Given the description of an element on the screen output the (x, y) to click on. 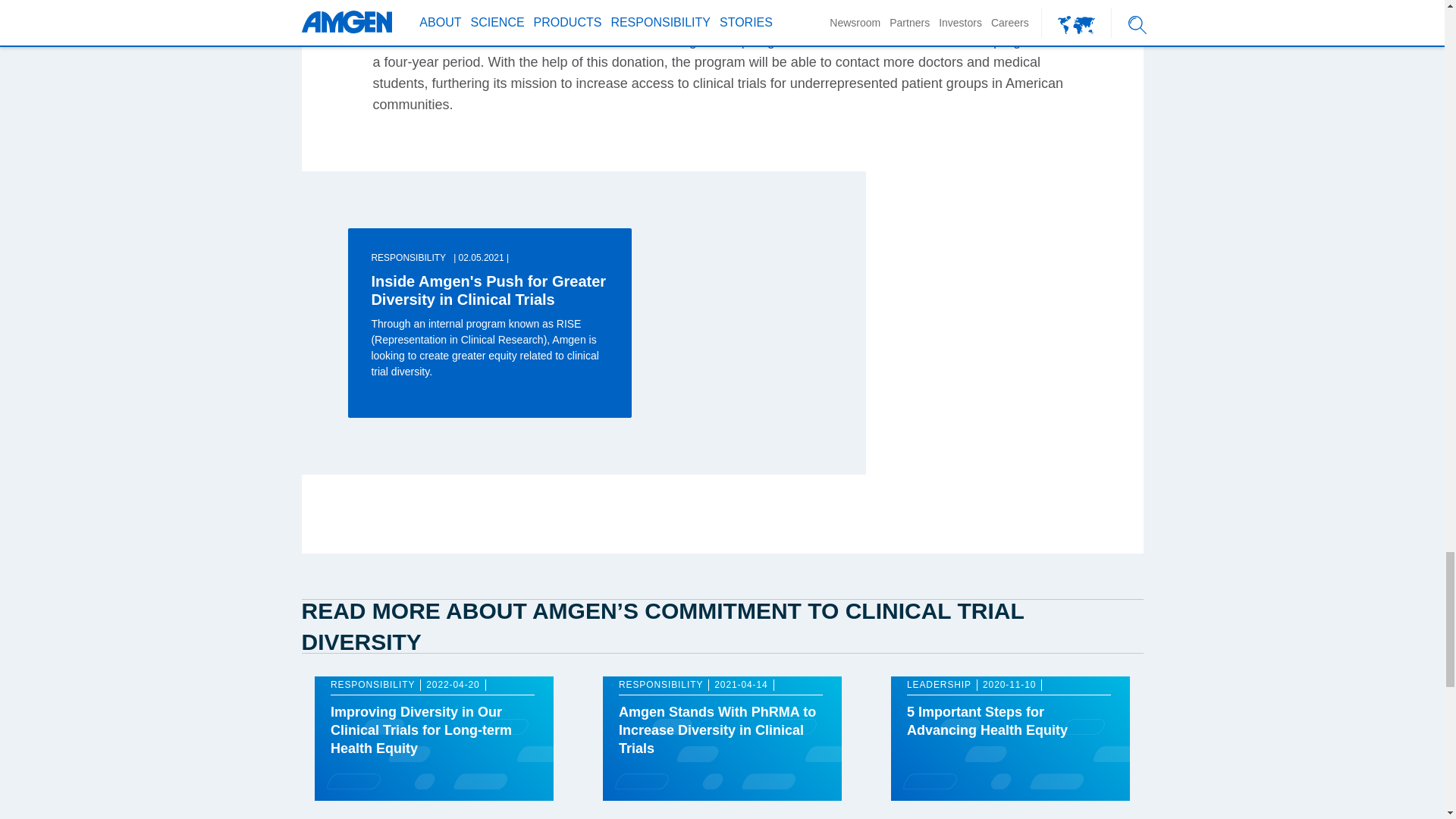
Responsibility (372, 684)
Leadership (939, 684)
Responsibility (660, 684)
5 Important Steps for Advancing Health Equity (987, 720)
